Given the description of an element on the screen output the (x, y) to click on. 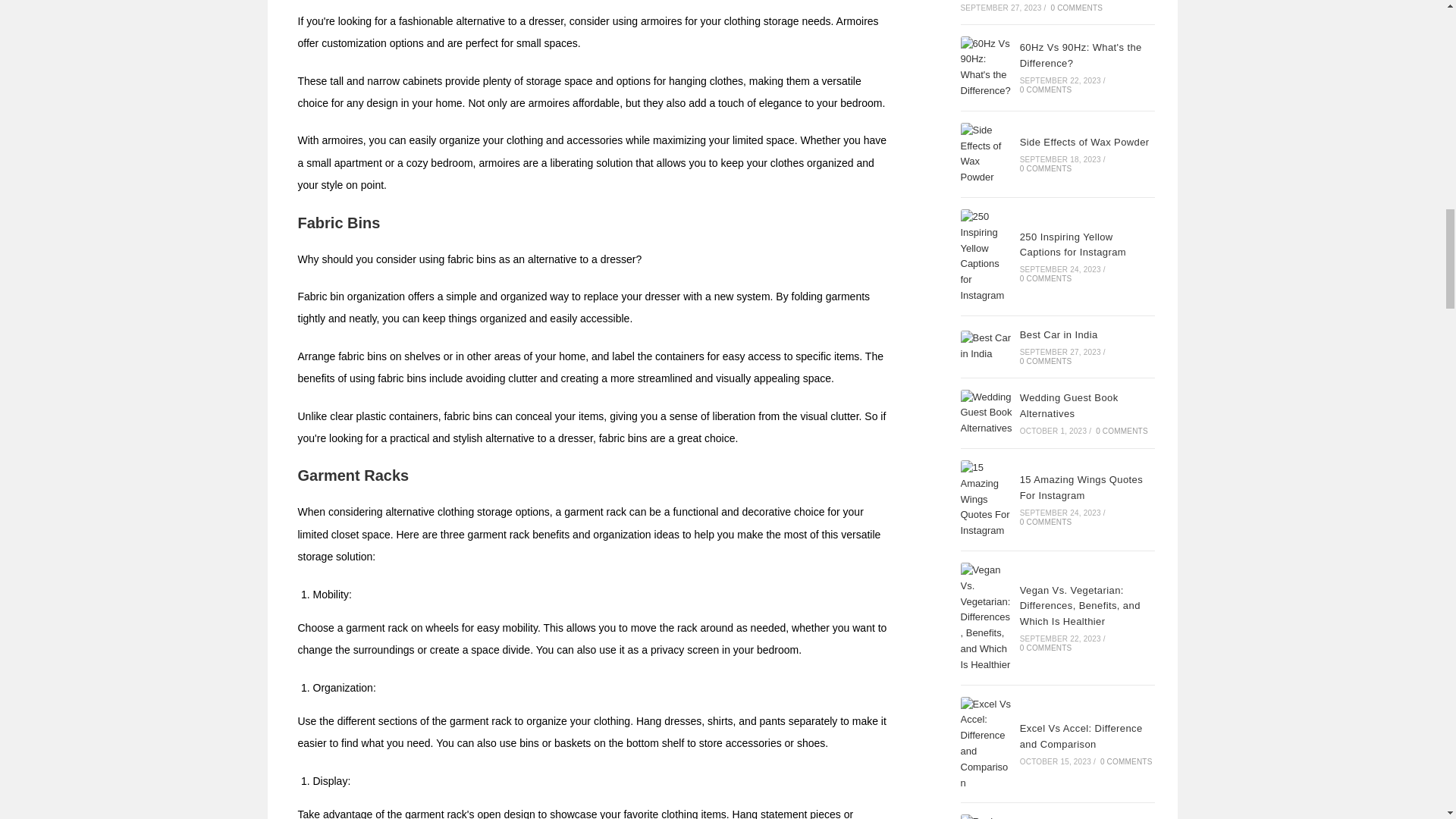
Side Effects of Wax Powder (985, 153)
60Hz Vs 90Hz: What's the Difference? (985, 67)
250 Inspiring Yellow Captions for Instagram (985, 256)
Best Car in India (985, 346)
